Given the description of an element on the screen output the (x, y) to click on. 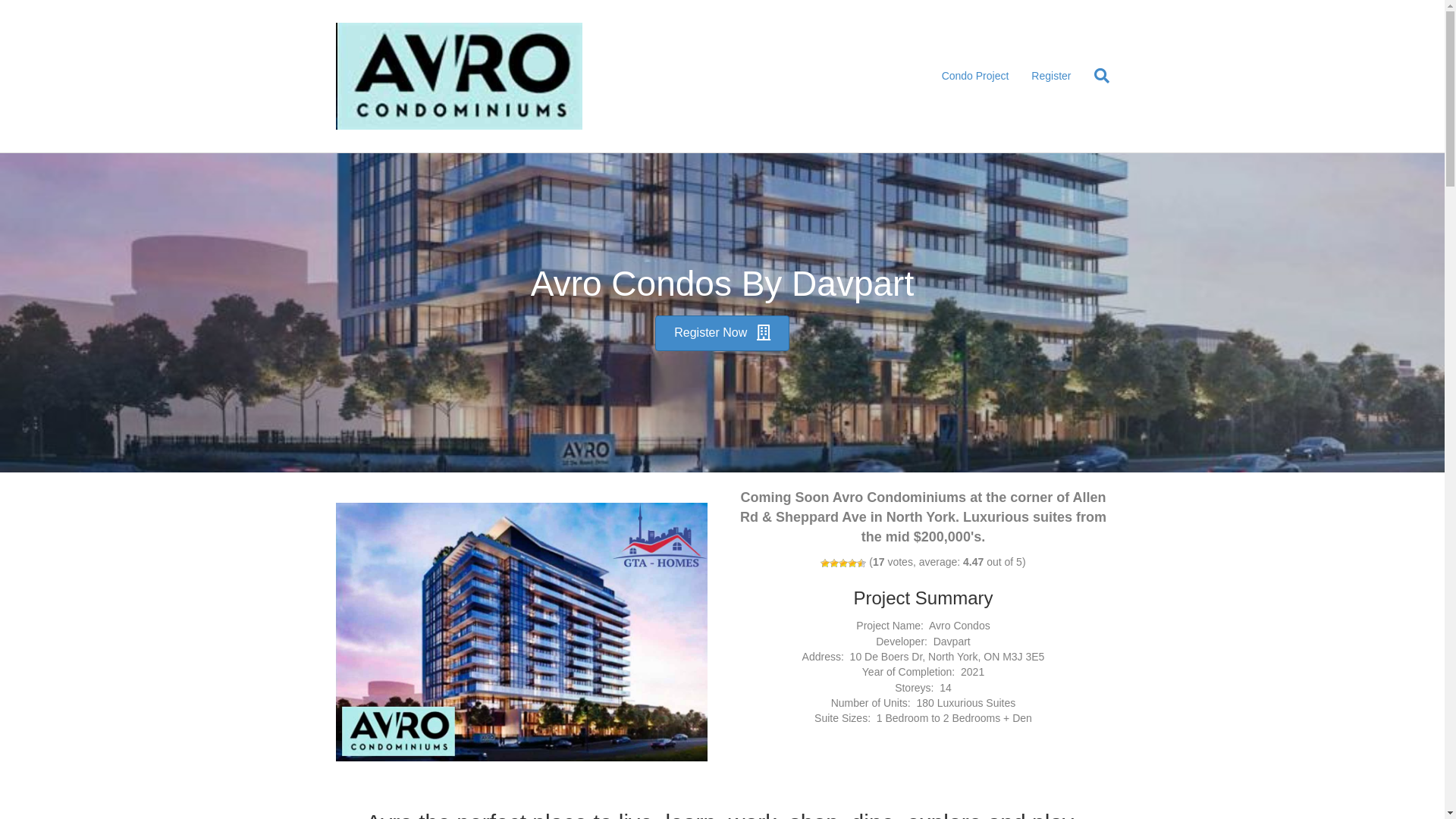
1 Star Element type: hover (824, 562)
Register Element type: text (1050, 76)
5 Stars Element type: hover (861, 562)
2 Stars Element type: hover (833, 562)
Register Now Element type: text (721, 333)
4 Stars Element type: hover (851, 562)
3 Stars Element type: hover (842, 562)
Condo Project Element type: text (975, 76)
Avro Condos Element type: hover (520, 631)
